Given the description of an element on the screen output the (x, y) to click on. 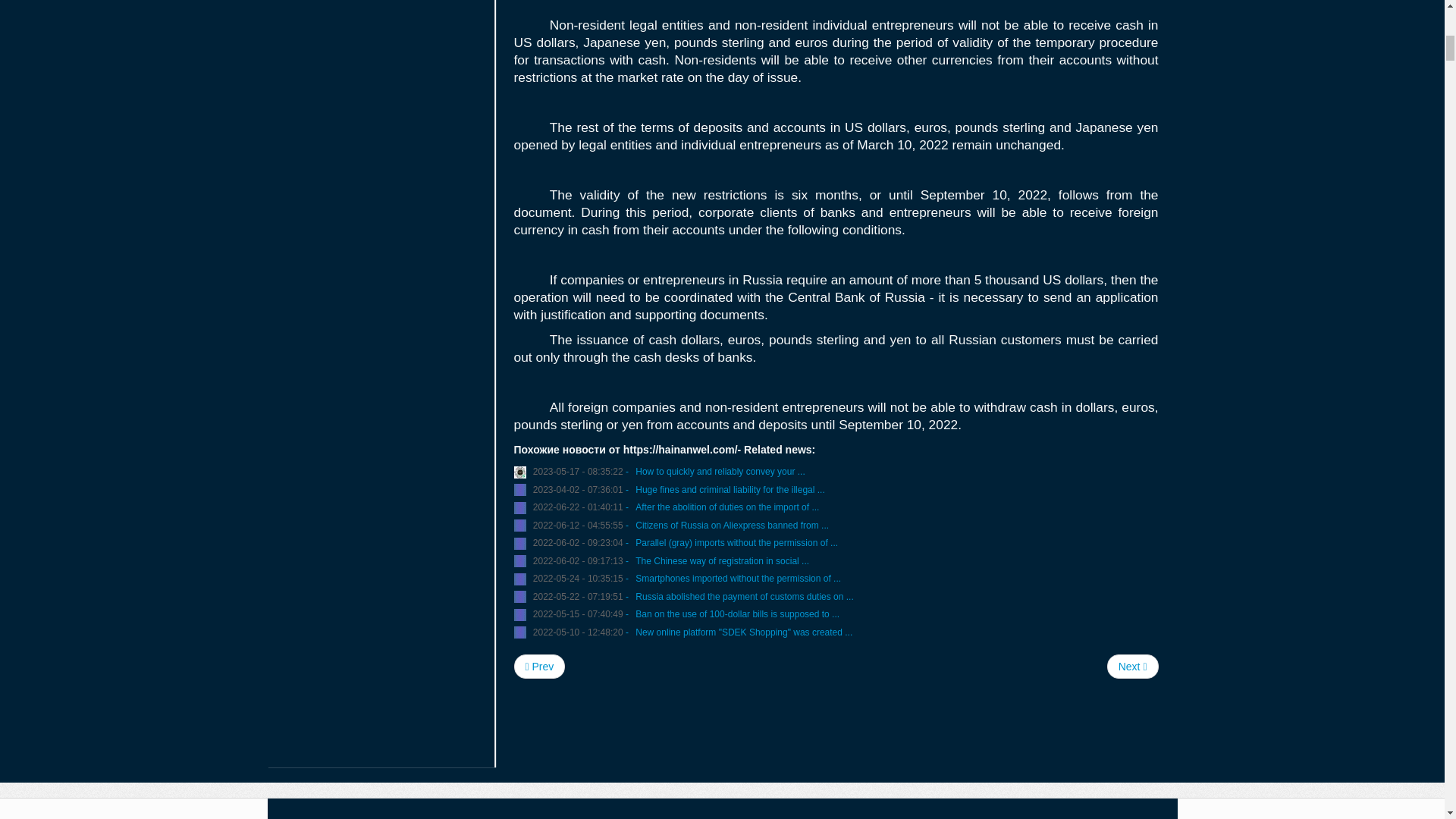
2022-06-02 - 09:17:13 - (581, 560)
The Chinese way of registration in social ... (721, 560)
Next (1132, 665)
Smartphones imported without the permission of ... (737, 578)
New online platform "SDEK Shopping" was created ... (742, 631)
2022-05-22 - 07:19:51 - (581, 596)
2022-05-24 - 10:35:15 - (581, 578)
2023-05-17 - 08:35:22 - (581, 471)
2022-05-10 - 12:48:20 - (581, 631)
2022-05-15 - 07:40:49 - (581, 614)
